Given the description of an element on the screen output the (x, y) to click on. 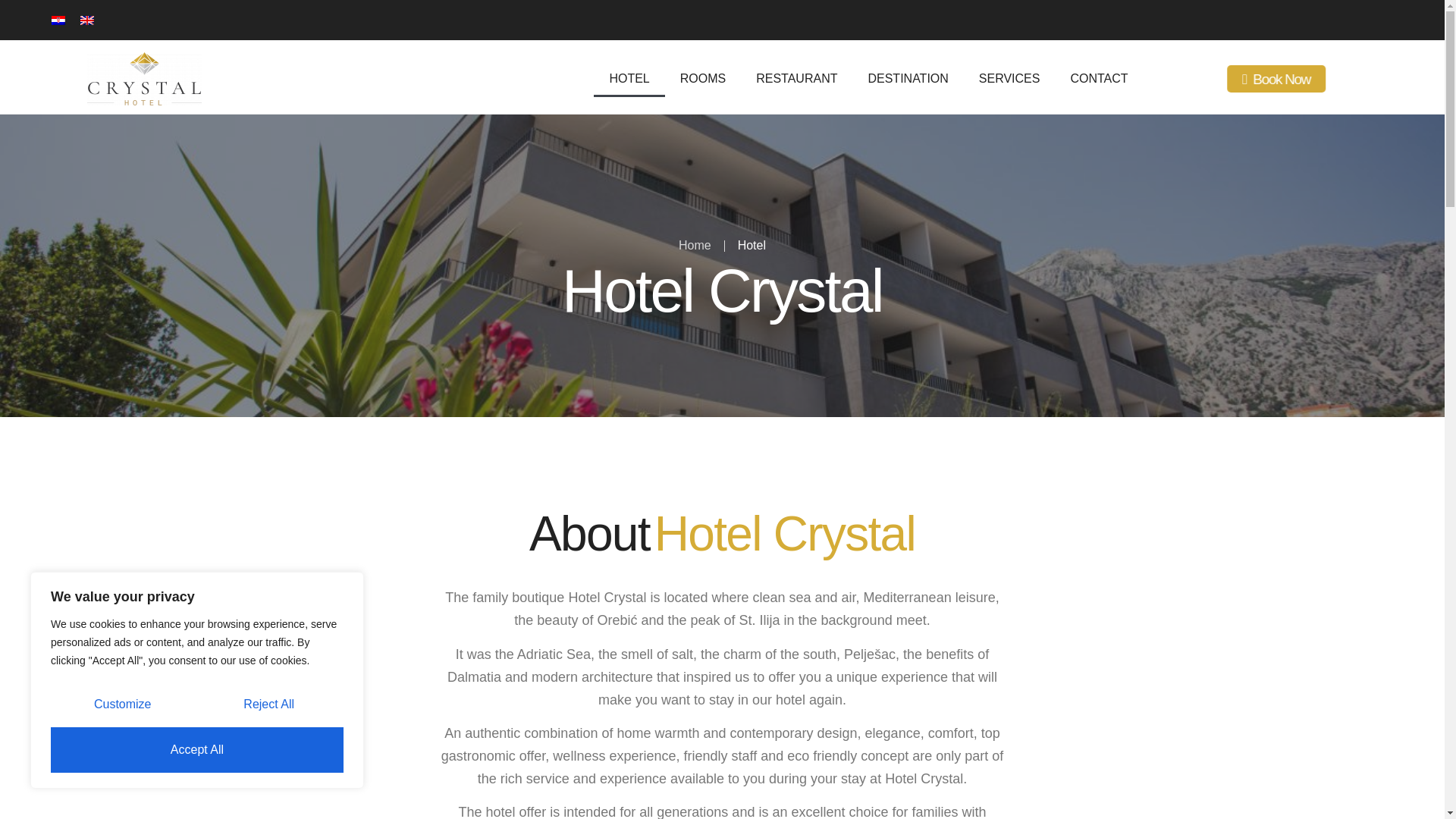
Customize (121, 704)
Home (694, 245)
DESTINATION (906, 78)
SERVICES (1009, 78)
Book Now (1325, 92)
RESTAURANT (796, 78)
CONTACT (1098, 78)
Reject All (268, 704)
HOTEL (628, 78)
ROOMS (703, 78)
Accept All (196, 750)
